Given the description of an element on the screen output the (x, y) to click on. 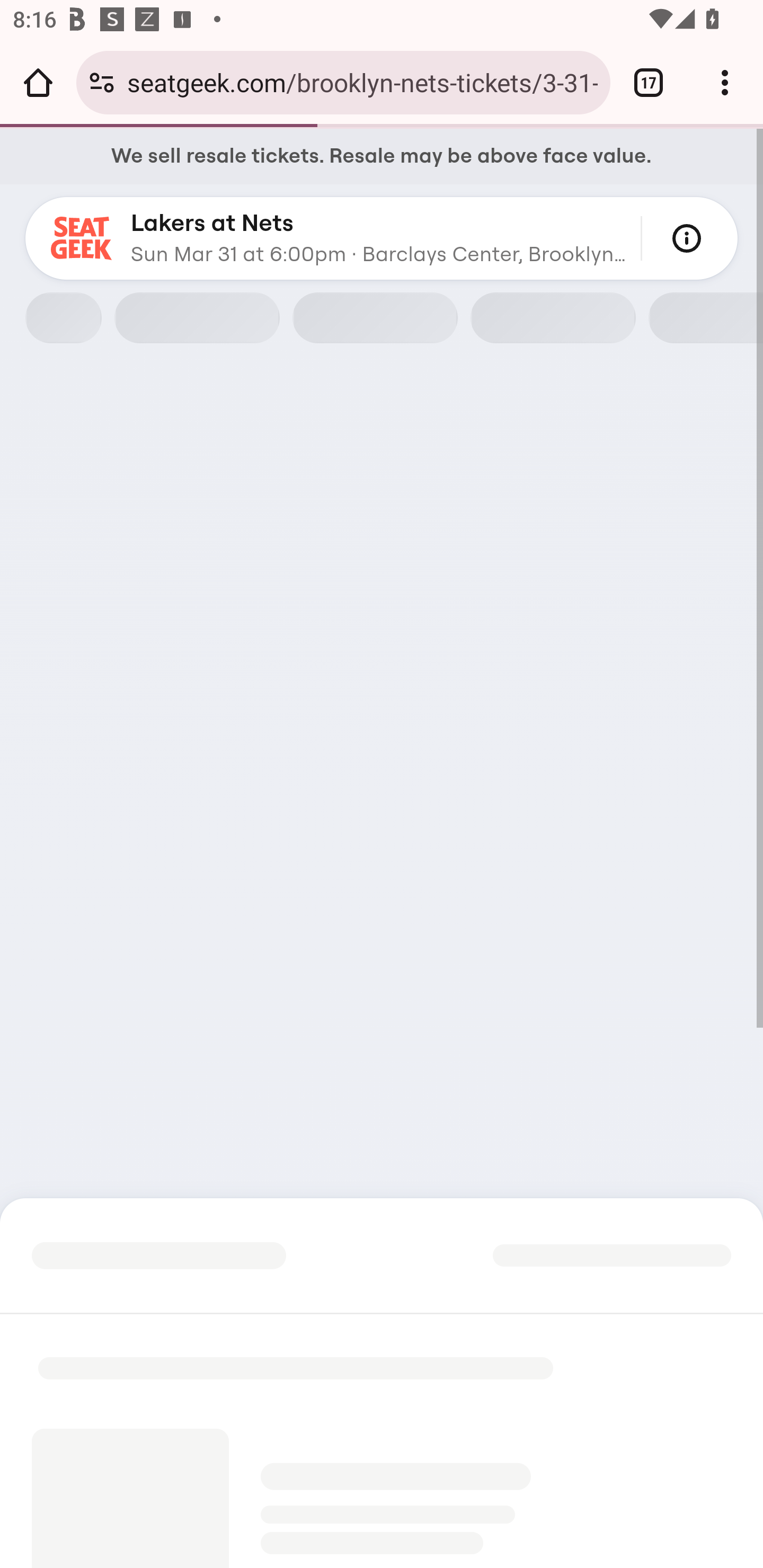
Open the home page (38, 82)
Connection is secure (101, 82)
Switch or close tabs (648, 82)
Customize and control Google Chrome (724, 82)
Homepage SeatGeek logo (81, 238)
See additional event details (686, 238)
